Given the description of an element on the screen output the (x, y) to click on. 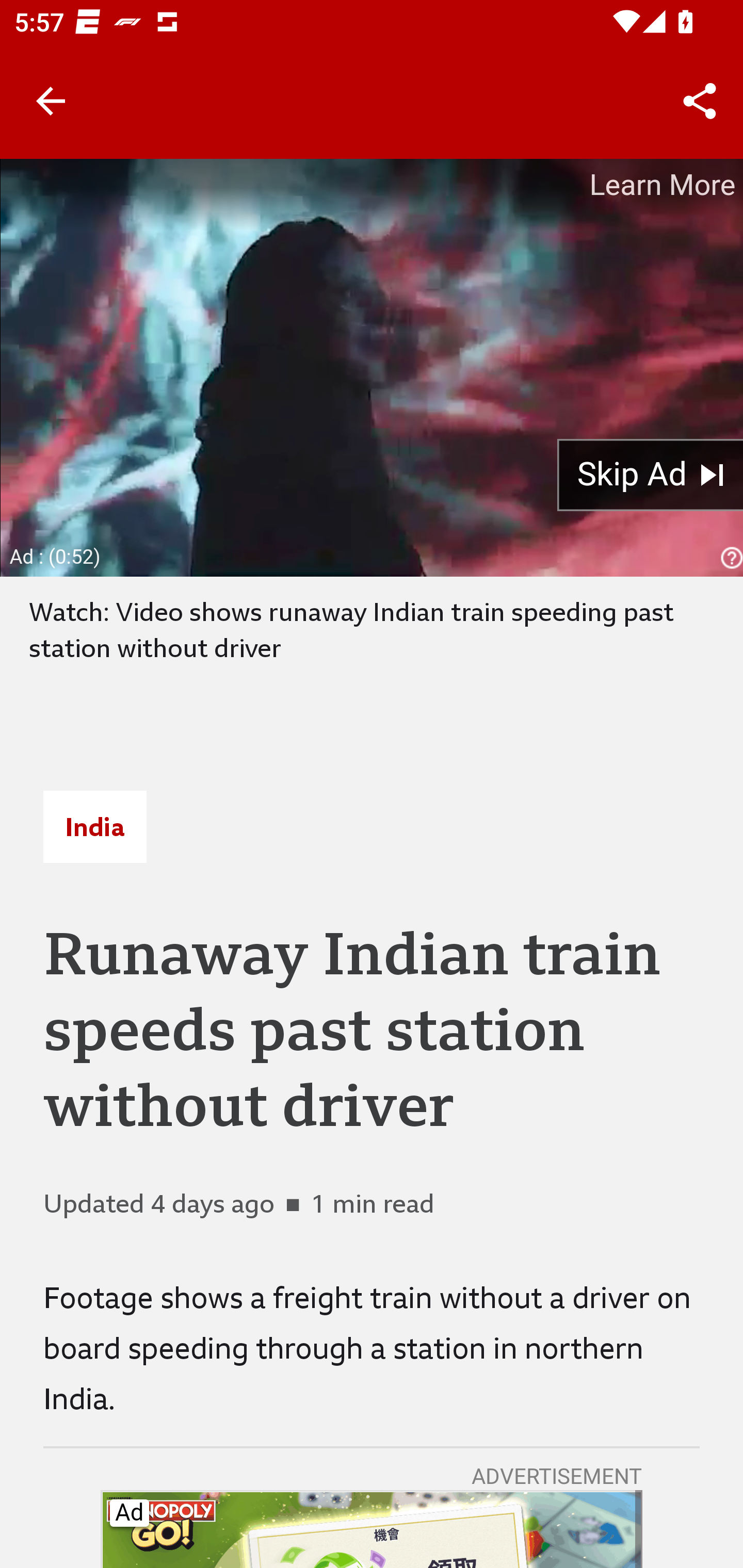
Back (50, 101)
Share (699, 101)
Learn More (660, 184)
Ad : (0:53) (55, 556)
help_outline_white_24dp_with_3px_trbl_padding (729, 557)
India (94, 827)
